Given the description of an element on the screen output the (x, y) to click on. 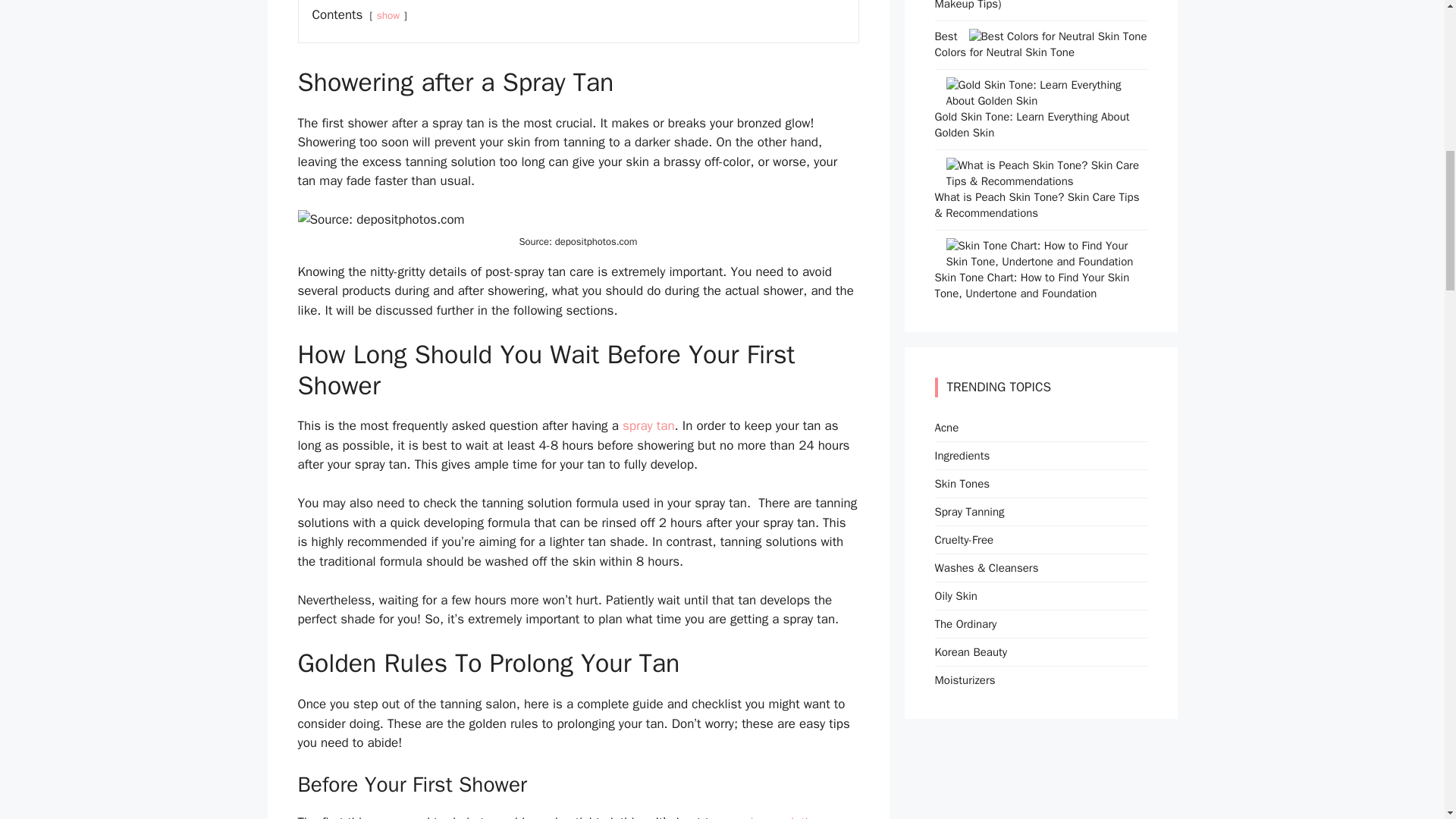
show (388, 15)
spray tan (649, 425)
Best Colors for Neutral Skin Tone (1058, 36)
loose clothes (787, 816)
Gold Skin Tone: Learn Everything About Golden Skin (1046, 100)
